Given the description of an element on the screen output the (x, y) to click on. 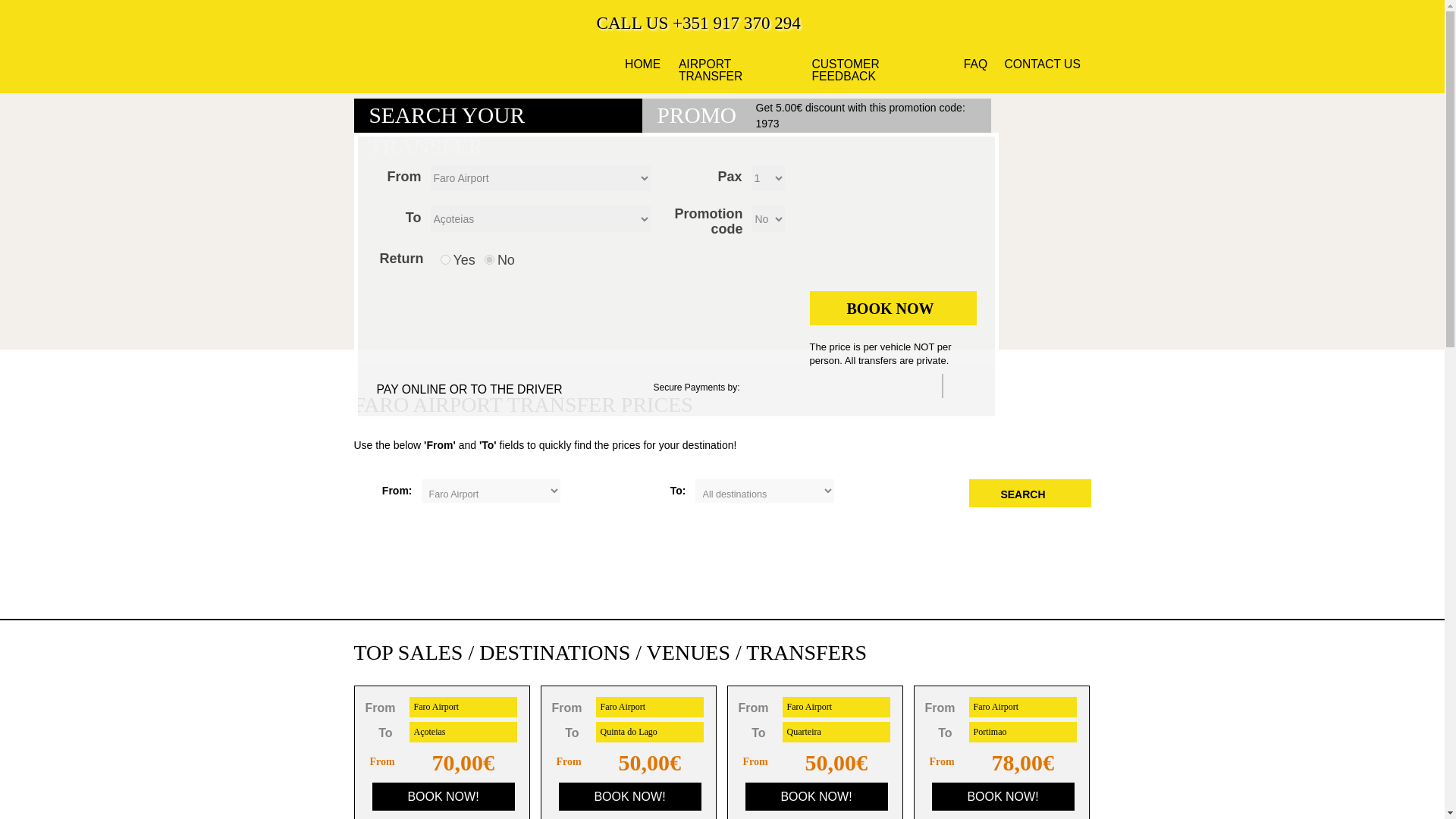
SEARCH (1029, 492)
0 (489, 259)
BOOK NOW! (628, 796)
Satisfaction. No hassle. (975, 64)
HOME (642, 64)
Faro Airport (836, 706)
1 (444, 259)
Faro Algarve Airtport Transfers. Contact Us if you like (1041, 64)
BOOK NOW (892, 308)
